Given the description of an element on the screen output the (x, y) to click on. 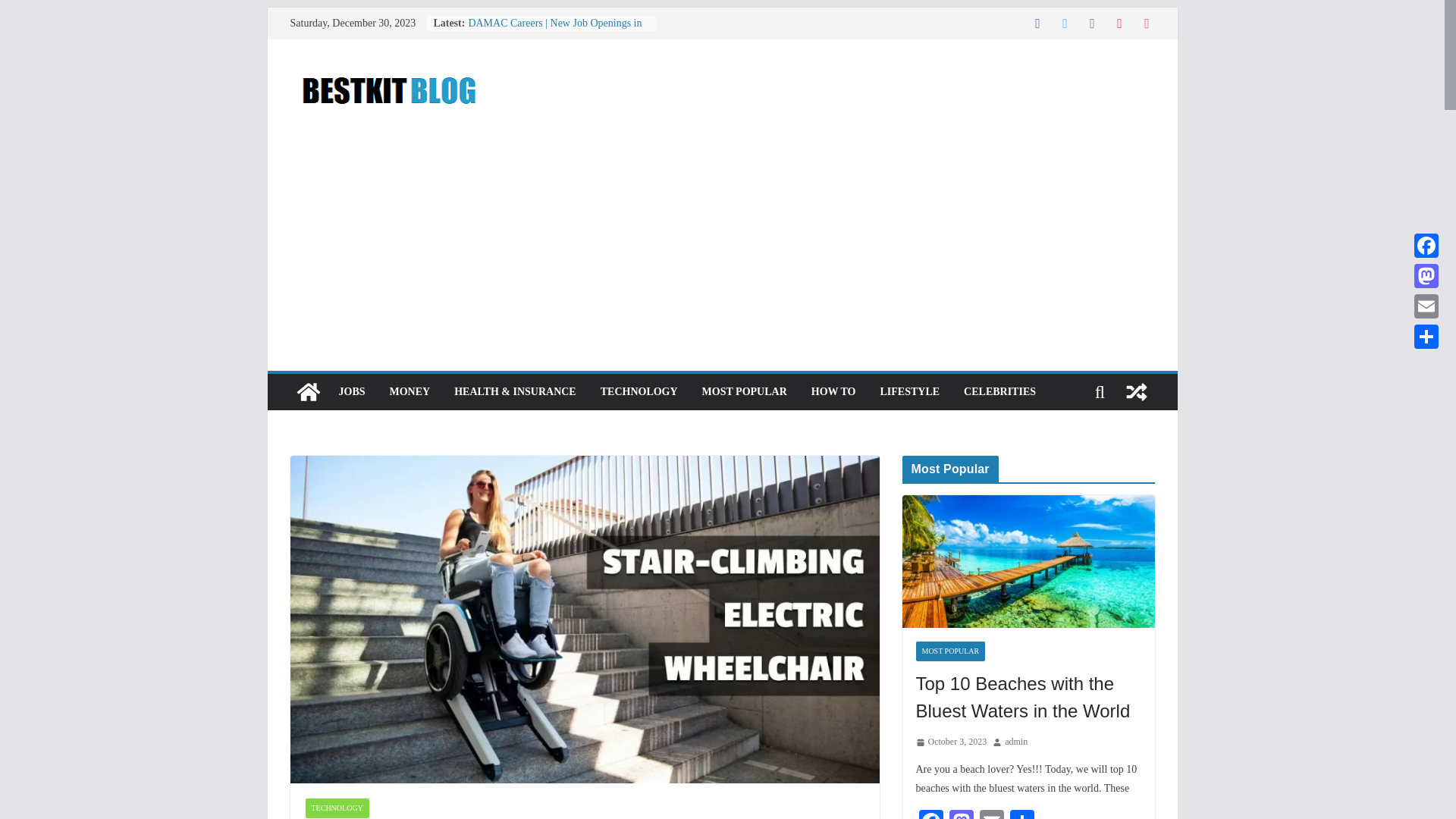
MOST POPULAR (744, 391)
MONEY (410, 391)
HOW TO (833, 391)
TECHNOLOGY (638, 391)
LIFESTYLE (909, 391)
Bestkit Blog (307, 391)
CELEBRITIES (999, 391)
View a random post (1136, 391)
JOBS (351, 391)
TECHNOLOGY (336, 808)
